Given the description of an element on the screen output the (x, y) to click on. 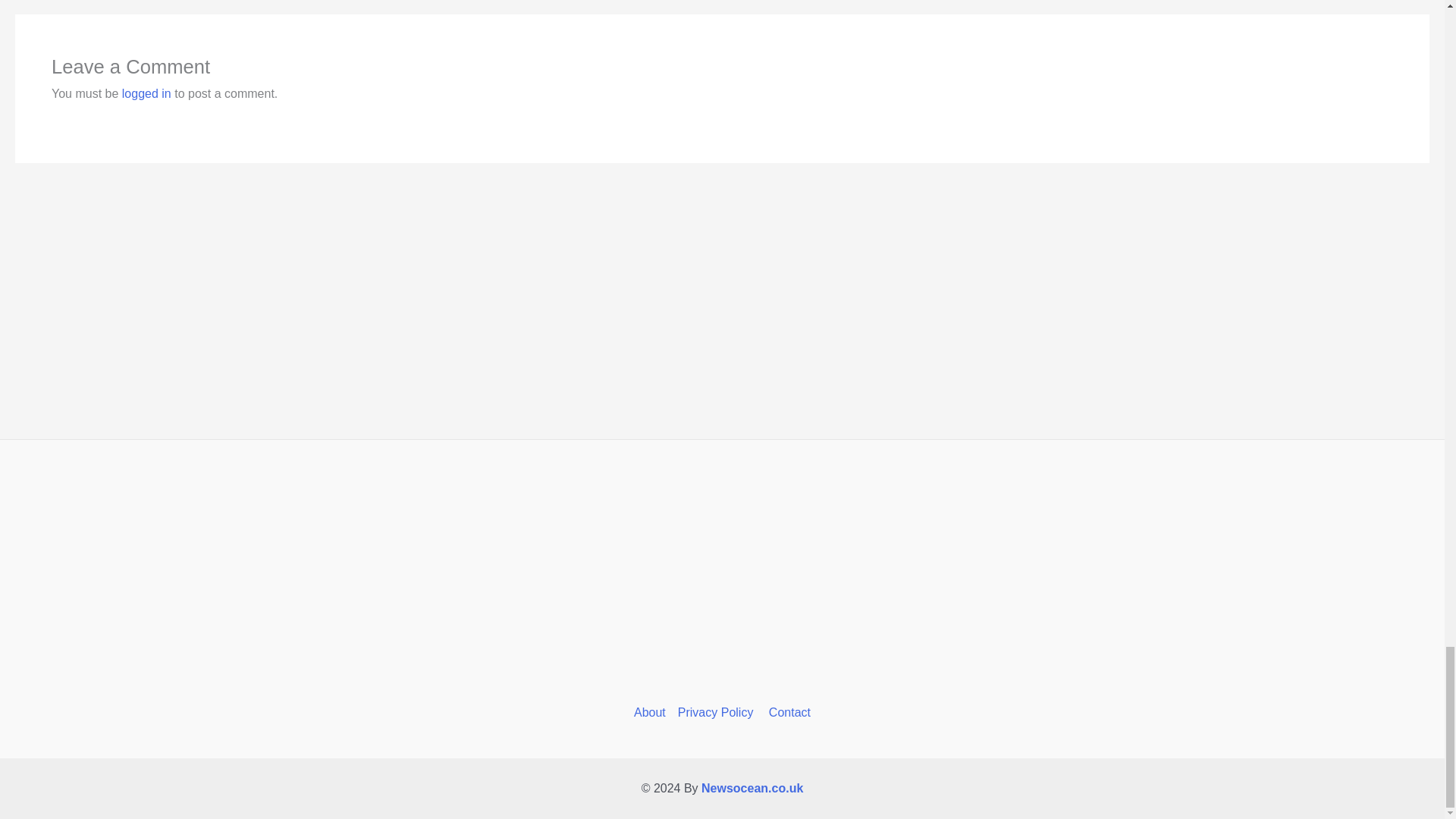
logged in (146, 92)
Privacy Policy  (716, 712)
About (652, 712)
Newsocean.co.uk (752, 788)
Contact (786, 712)
